Given the description of an element on the screen output the (x, y) to click on. 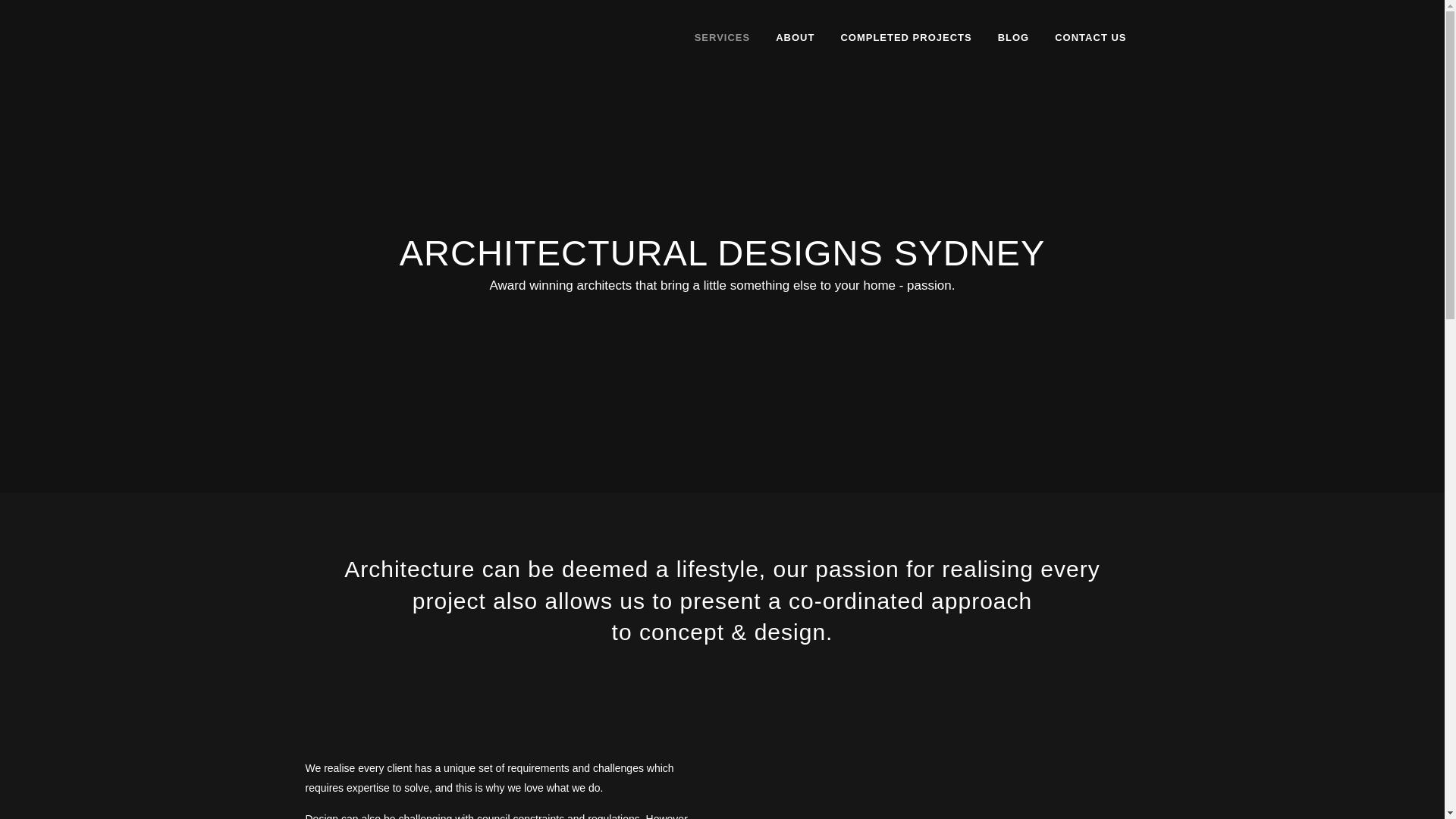
Builders Sydney (392, 351)
SERVICES (721, 38)
CONTACT US (1090, 38)
COMPLETED PROJECTS (905, 38)
